Given the description of an element on the screen output the (x, y) to click on. 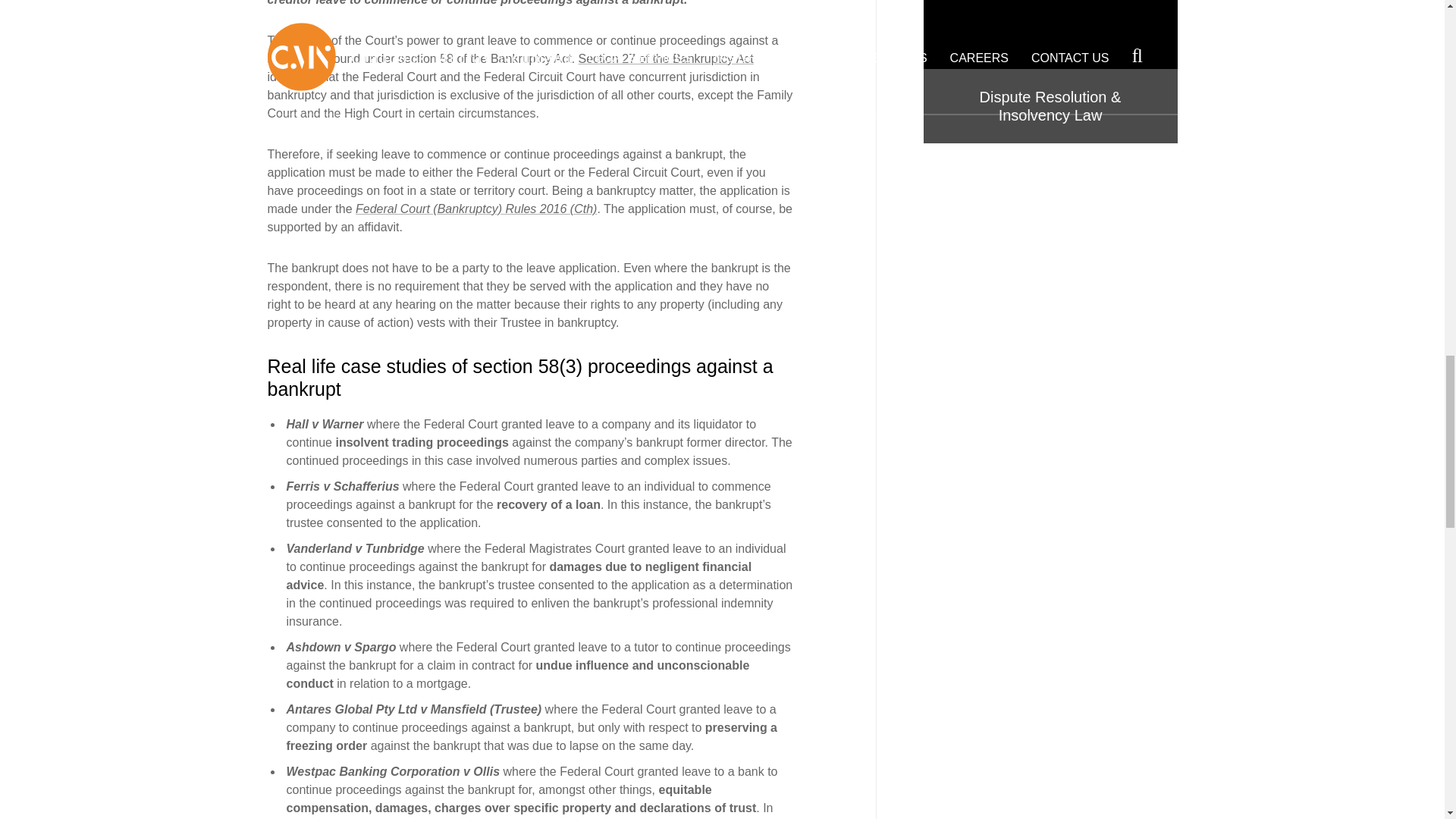
Section 27 of the Bankruptcy Act (666, 58)
